Given the description of an element on the screen output the (x, y) to click on. 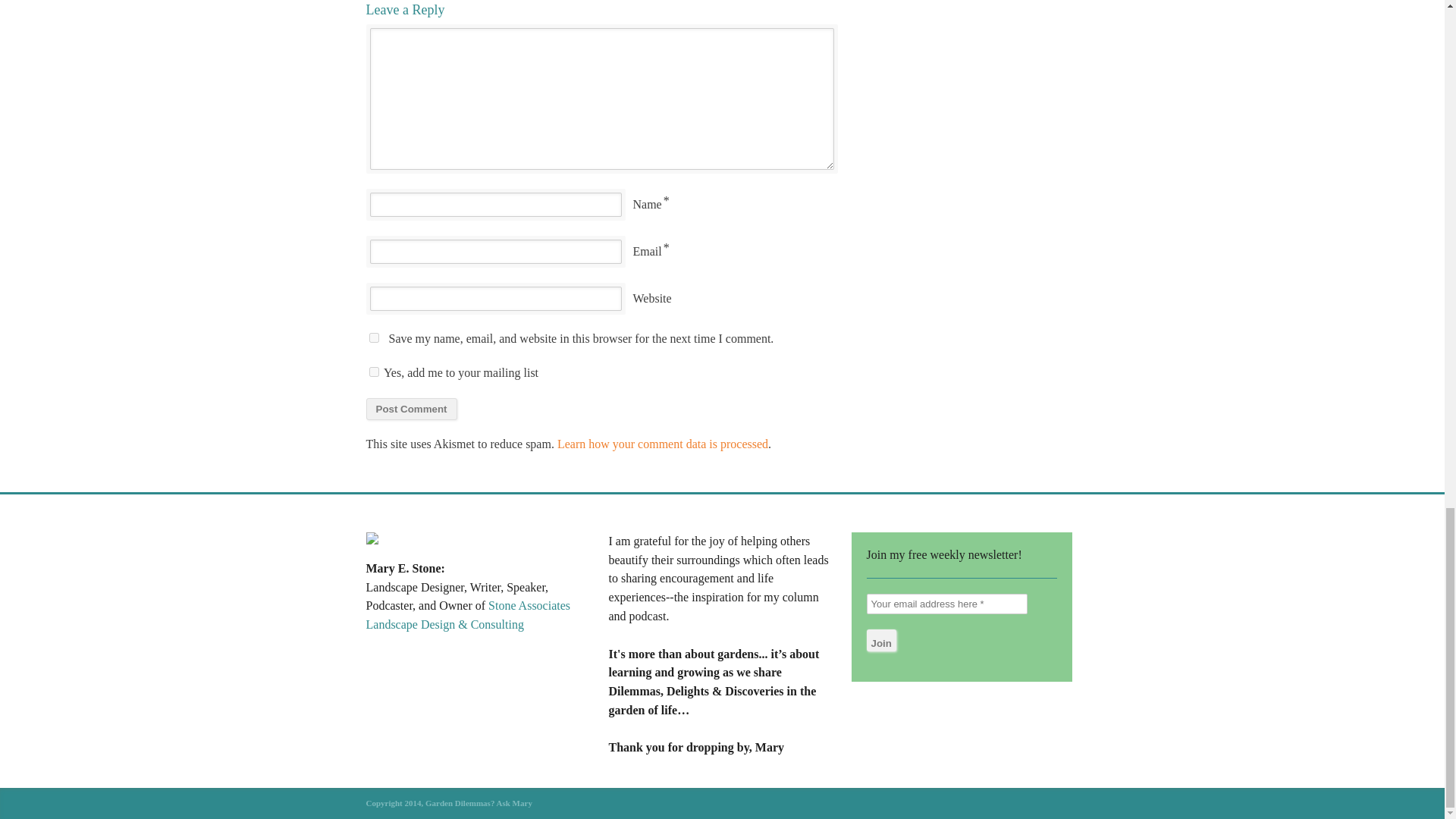
Your email address here (946, 603)
Post Comment (411, 409)
yes (373, 337)
Learn how your comment data is processed (662, 443)
Post Comment (411, 409)
Join (880, 640)
Join (880, 640)
1 (373, 371)
